Given the description of an element on the screen output the (x, y) to click on. 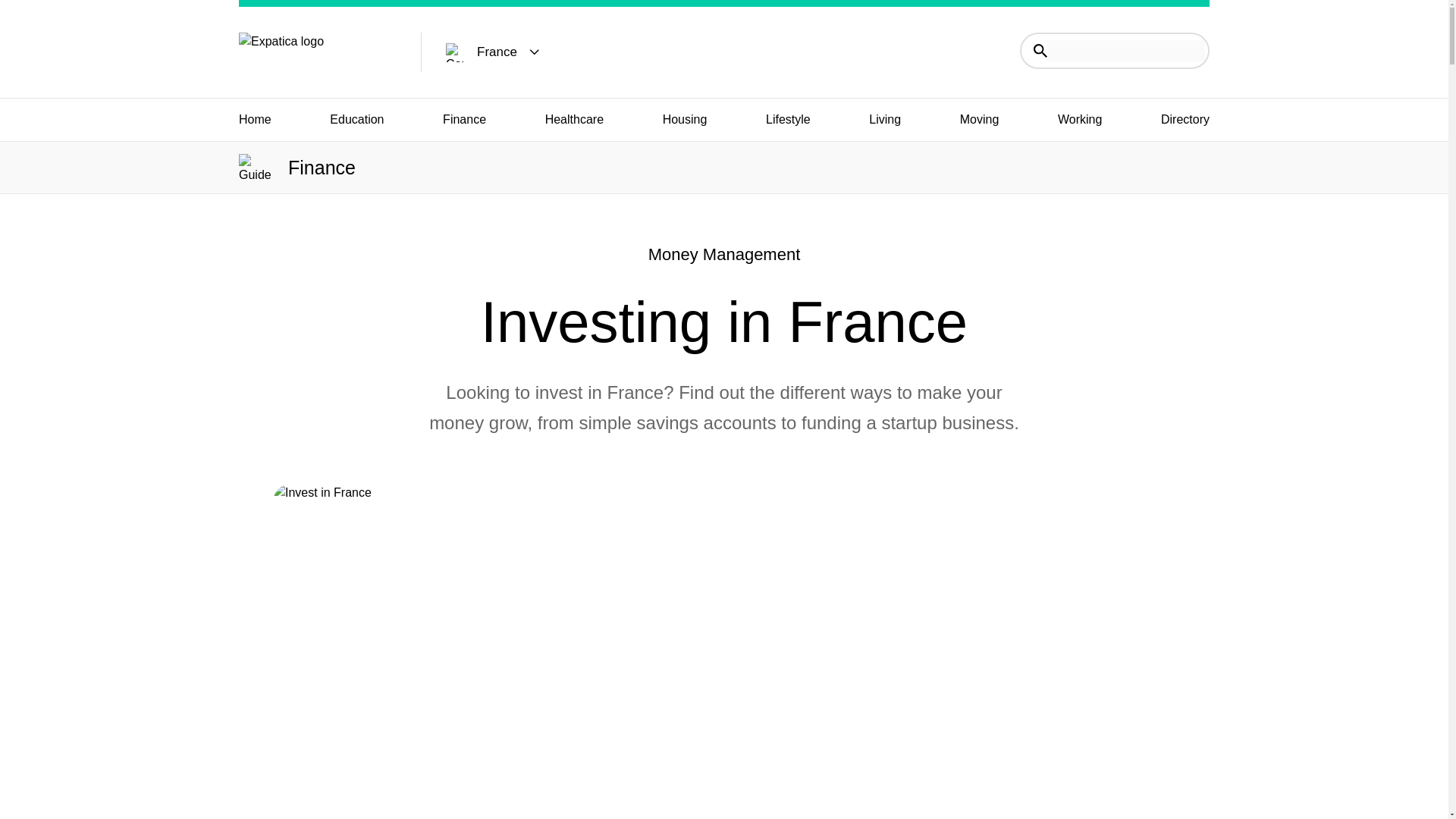
Education (357, 119)
Moving (978, 119)
Lifestyle (787, 119)
Working (1080, 119)
Home (254, 119)
Directory (1184, 119)
Finance (464, 119)
Healthcare (574, 119)
Living (885, 119)
Housing (684, 119)
